Given the description of an element on the screen output the (x, y) to click on. 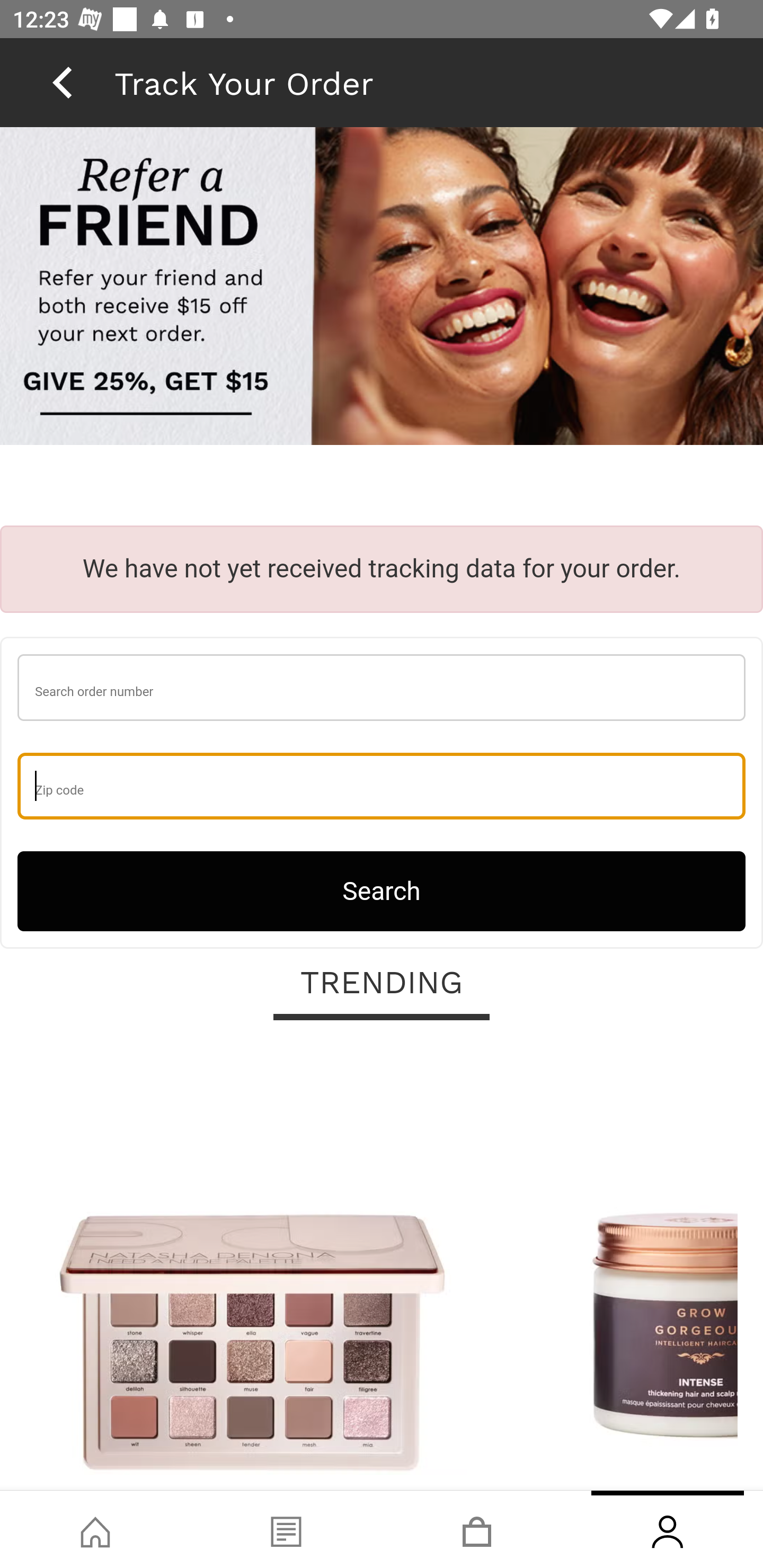
back (61, 82)
raf (381, 288)
Search (381, 890)
TRENDING (381, 983)
Natasha Denona I Need A Nude Palette (252, 1266)
Shop, tab, 1 of 4 (95, 1529)
Blog, tab, 2 of 4 (285, 1529)
Basket, tab, 3 of 4 (476, 1529)
Account, tab, 4 of 4 (667, 1529)
